Given the description of an element on the screen output the (x, y) to click on. 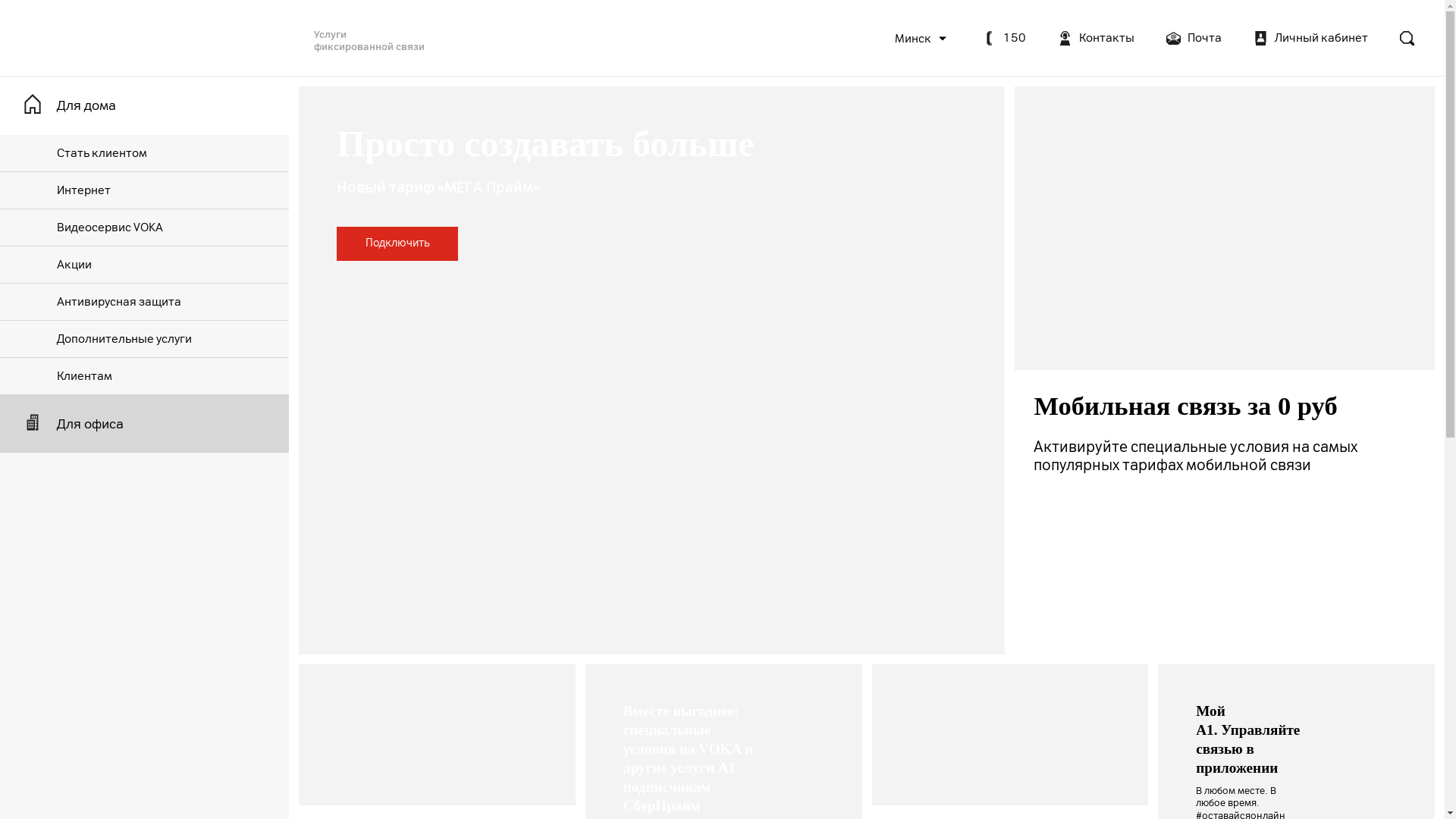
150 Element type: text (1004, 38)
